Given the description of an element on the screen output the (x, y) to click on. 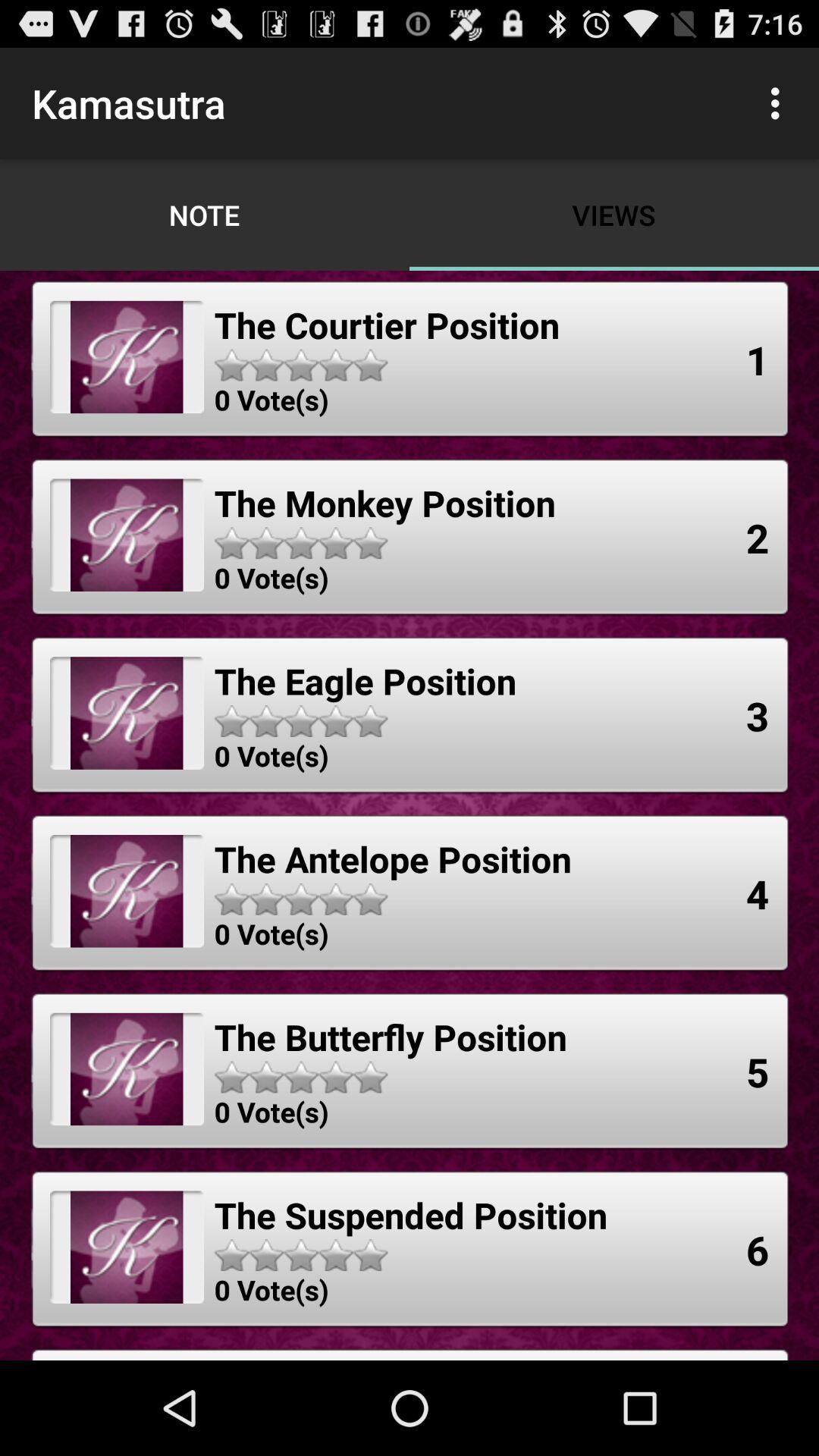
turn off the icon below the 4 app (757, 1071)
